Given the description of an element on the screen output the (x, y) to click on. 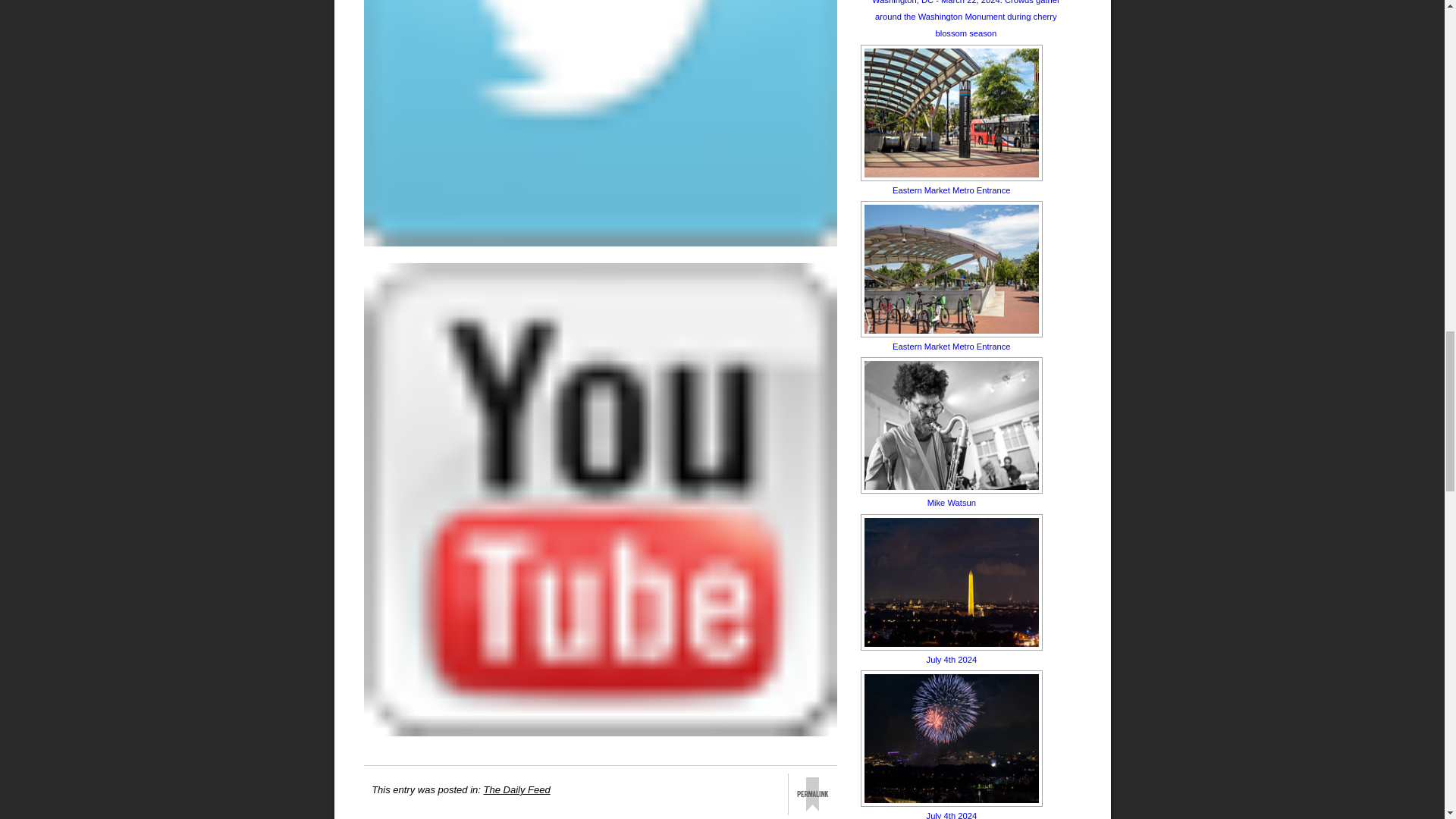
The Daily Feed (516, 789)
